Given the description of an element on the screen output the (x, y) to click on. 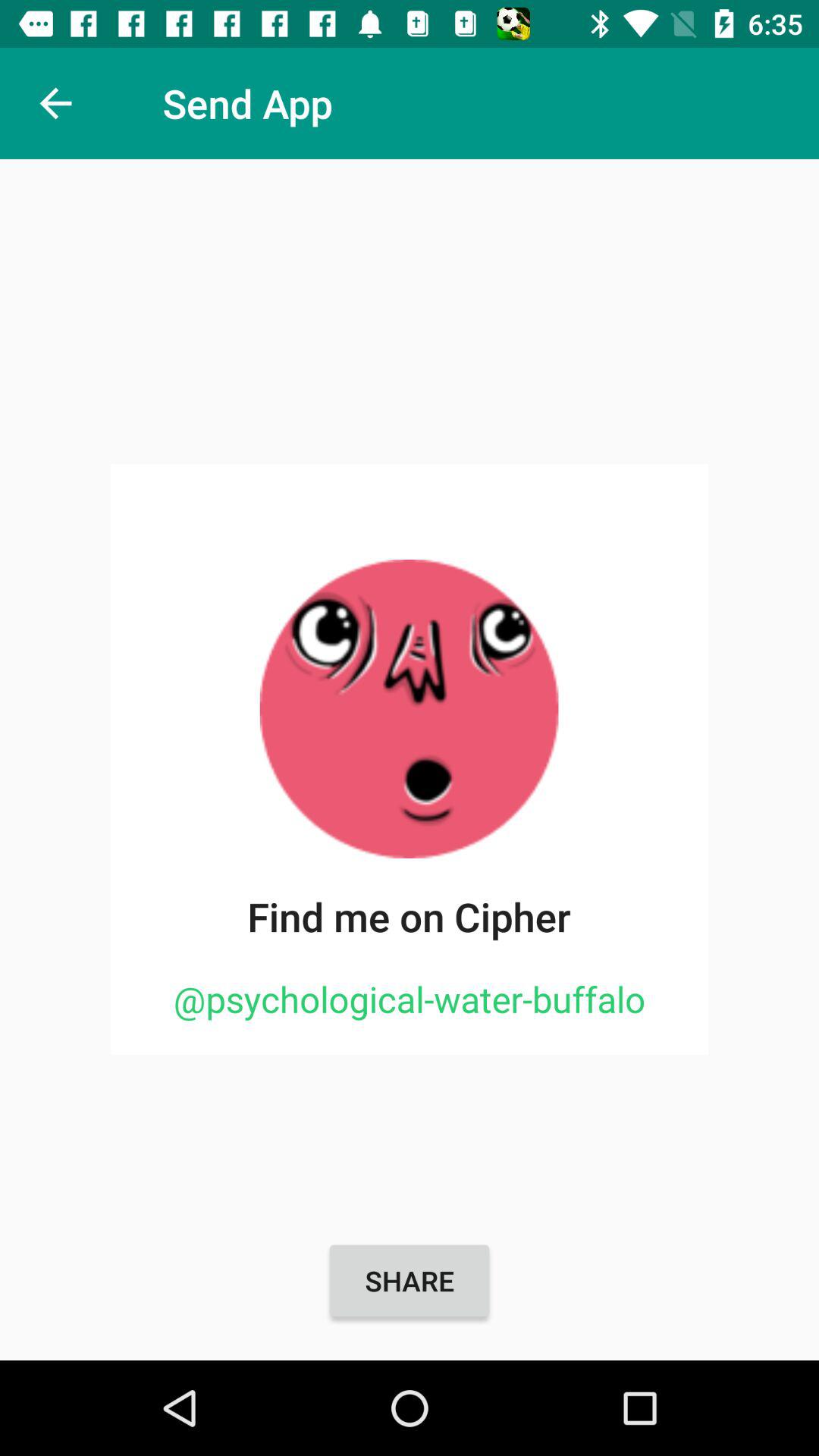
turn on the share item (409, 1280)
